Given the description of an element on the screen output the (x, y) to click on. 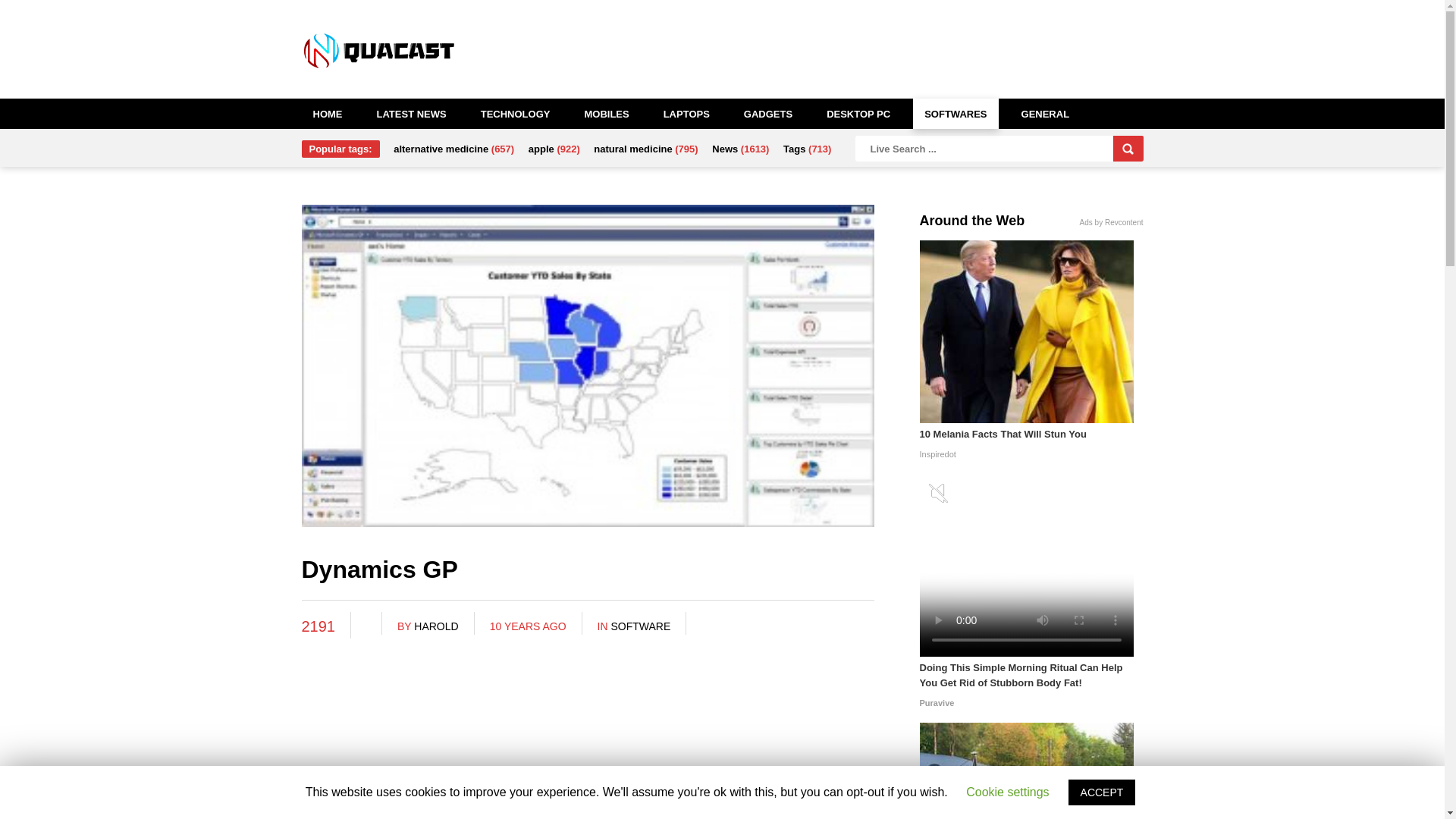
Posts by Harold (435, 625)
Search (1127, 148)
GADGETS (767, 113)
HOME (327, 113)
LAPTOPS (686, 113)
DESKTOP PC (858, 113)
SOFTWARES (954, 113)
TECHNOLOGY (515, 113)
HAROLD (435, 625)
SOFTWARE (639, 625)
MOBILES (606, 113)
LATEST NEWS (411, 113)
GENERAL (1045, 113)
Search (1127, 148)
